Given the description of an element on the screen output the (x, y) to click on. 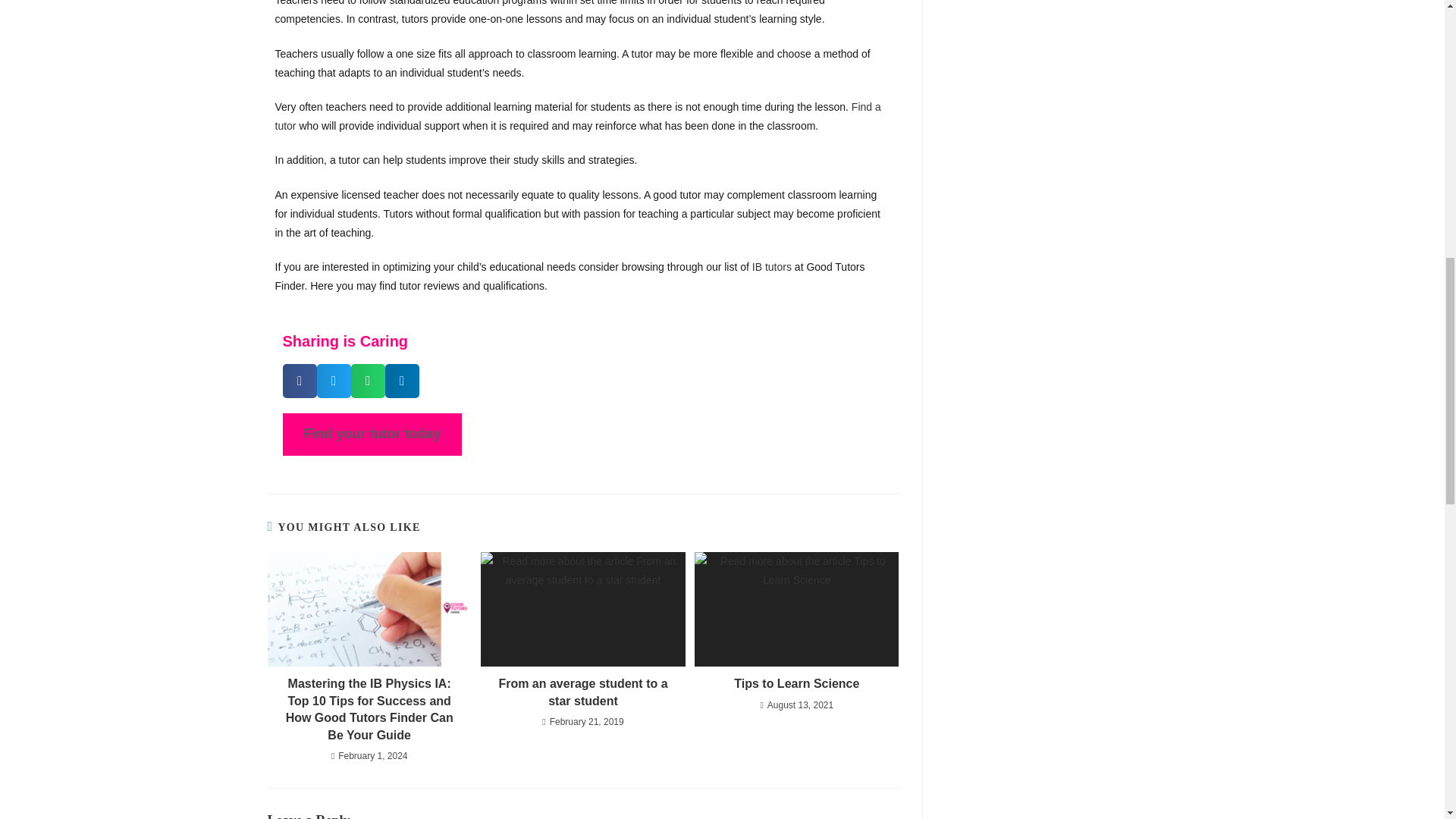
Find your tutor today (371, 434)
From an average student to a star student (582, 692)
IB tutors (772, 266)
Find a tutor (577, 115)
Tips to Learn Science (796, 683)
From an average student to a star student 3 (582, 609)
Tips to Learn Science 4 (796, 609)
